Given the description of an element on the screen output the (x, y) to click on. 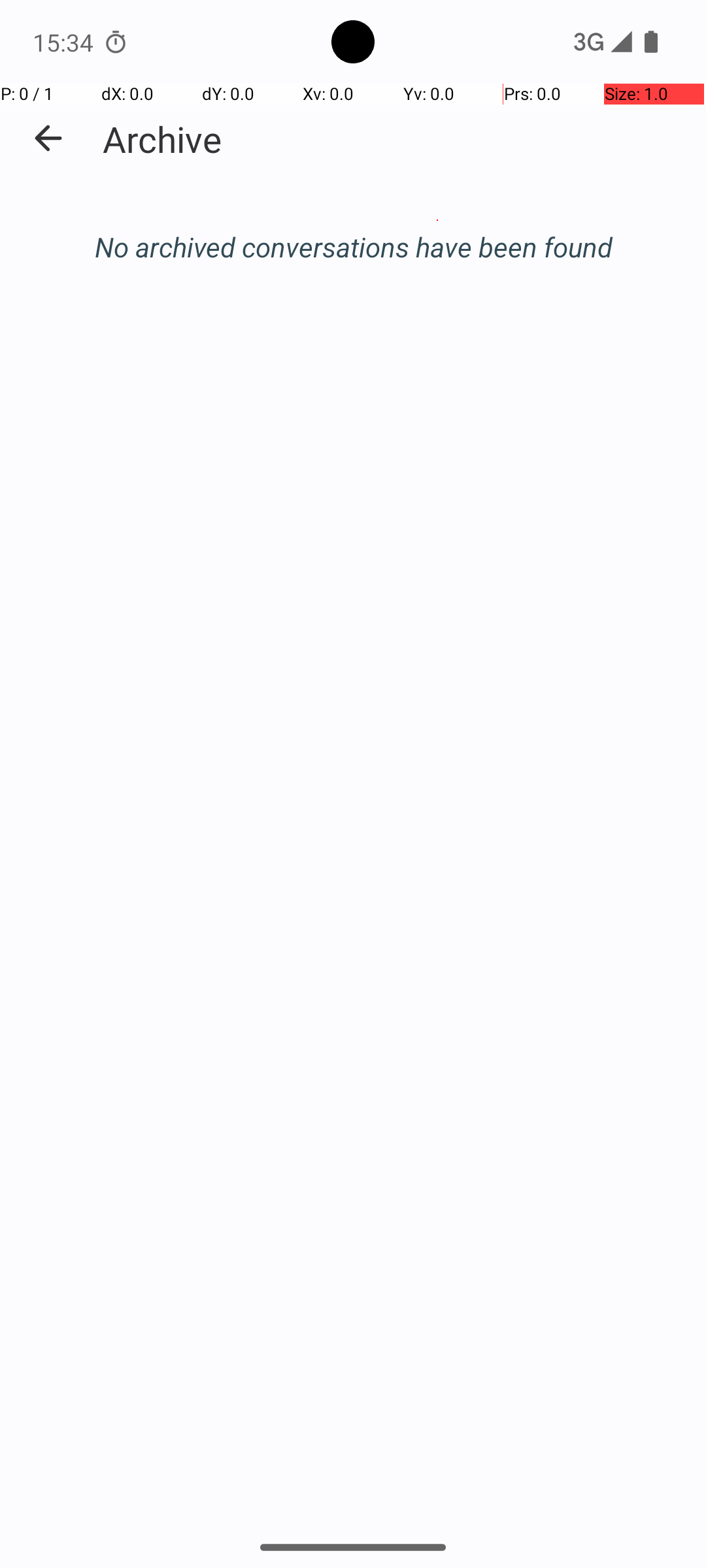
No archived conversations have been found Element type: android.widget.TextView (353, 246)
